Given the description of an element on the screen output the (x, y) to click on. 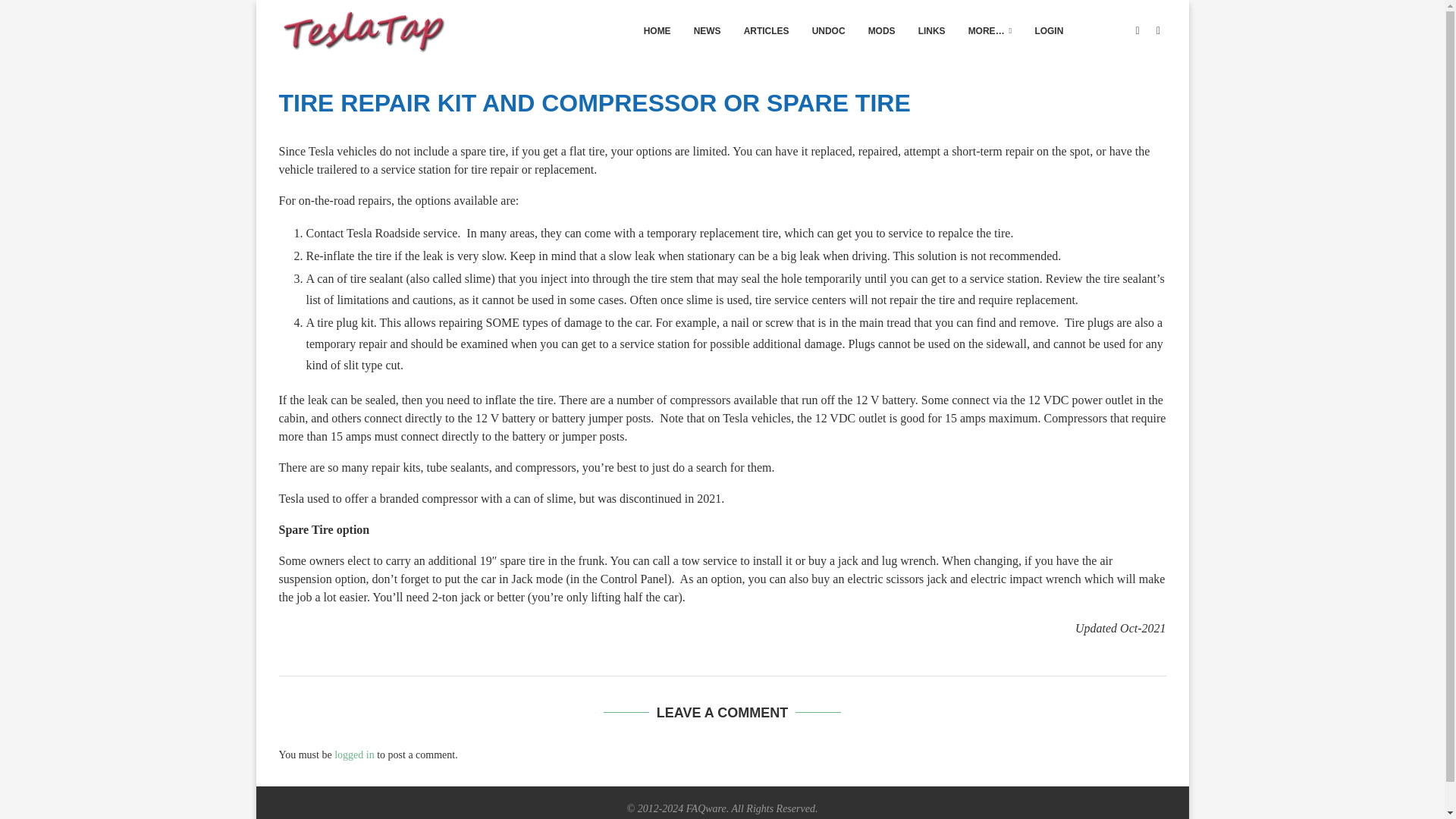
logged in (354, 754)
